Given the description of an element on the screen output the (x, y) to click on. 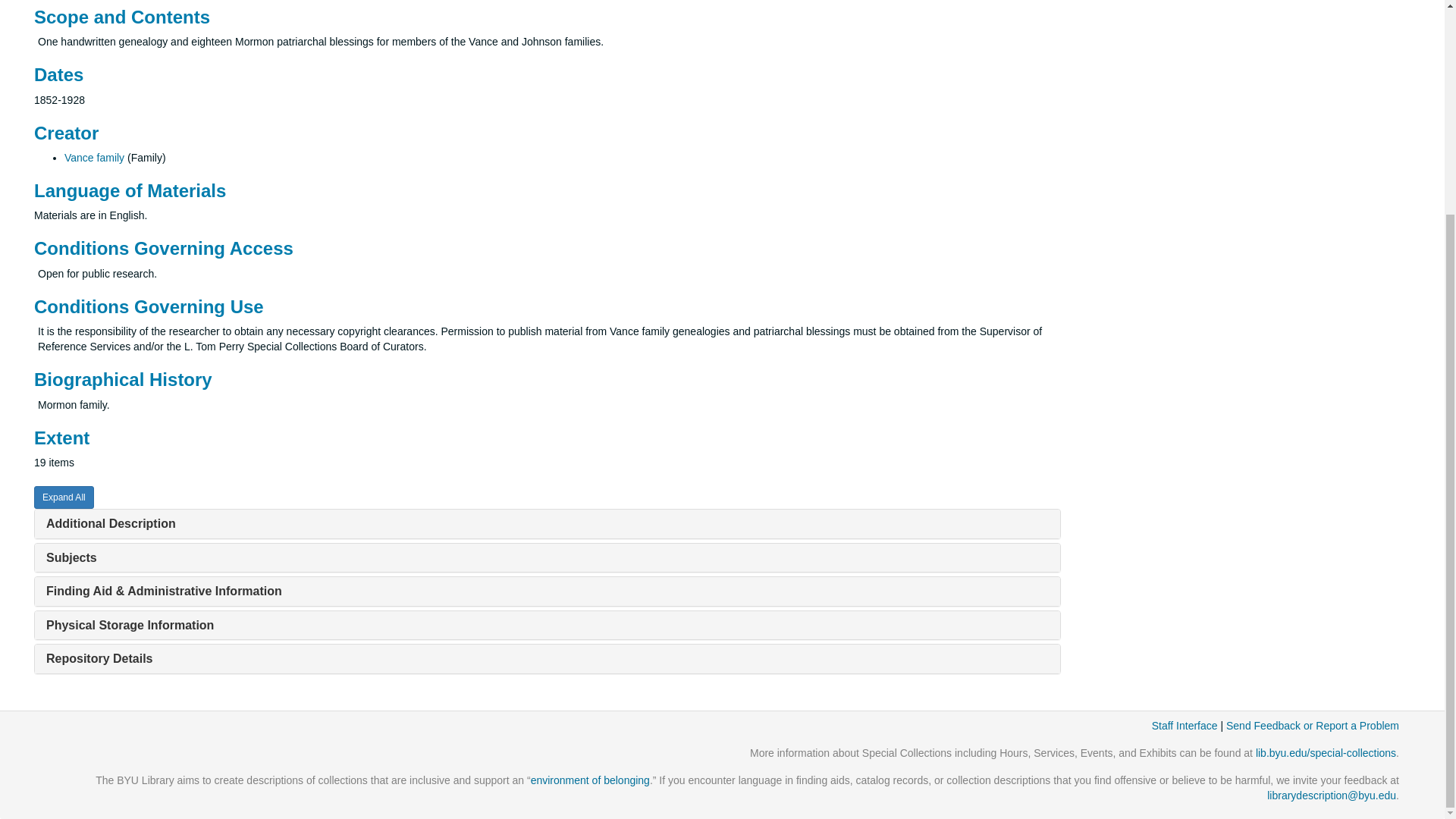
Physical Storage Information (130, 625)
Vance family (93, 157)
Repository Details (99, 658)
Additional Description (111, 522)
Subjects (71, 557)
Expand All (63, 497)
